Given the description of an element on the screen output the (x, y) to click on. 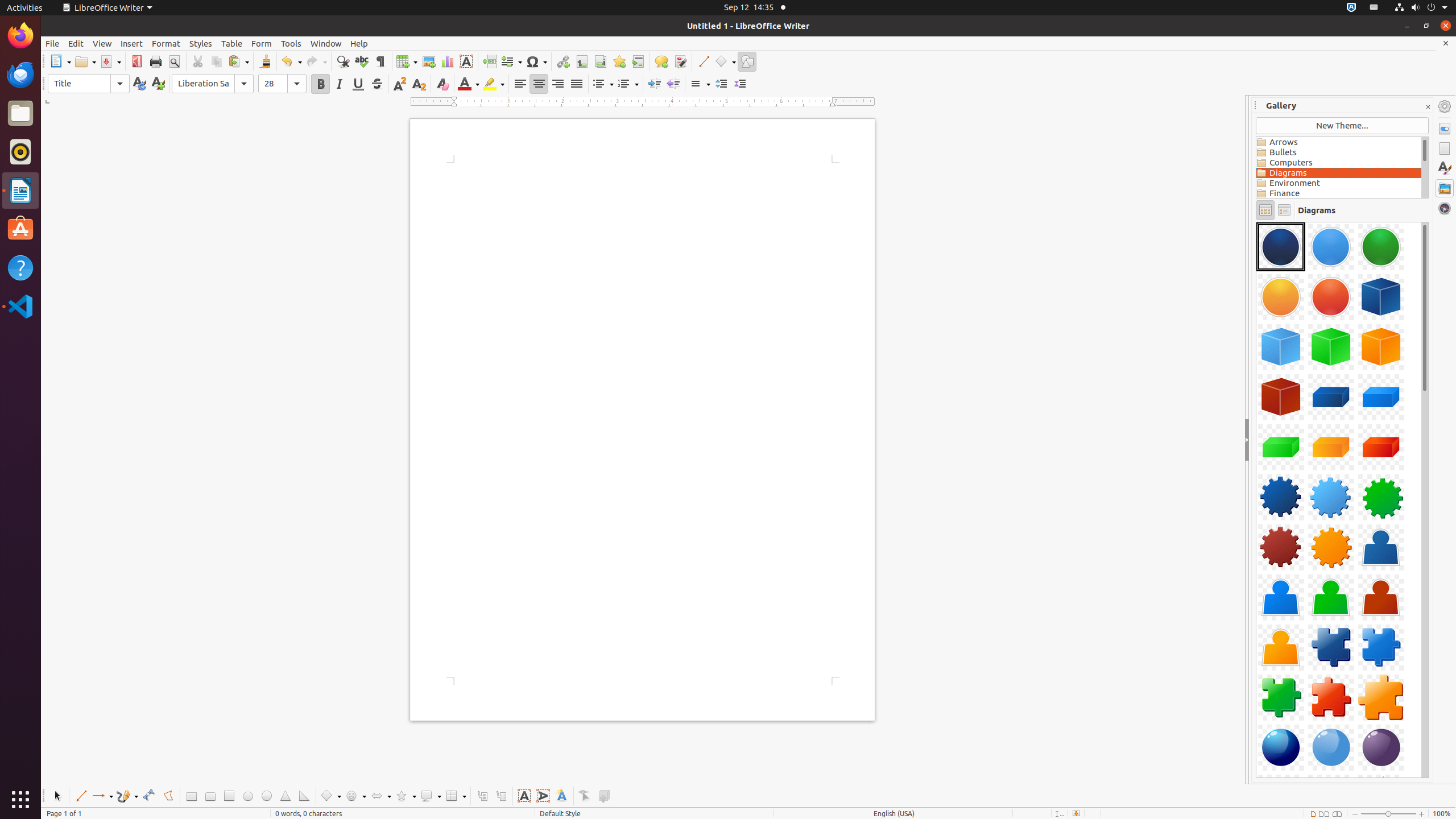
Isosceles Triangle Element type: push-button (284, 795)
Formatting Marks Element type: toggle-button (379, 61)
Component-Sphere02-LightBlue Element type: list-item (1330, 746)
Cut Element type: push-button (197, 61)
Vertical Callouts Element type: toggle-button (500, 795)
